Given the description of an element on the screen output the (x, y) to click on. 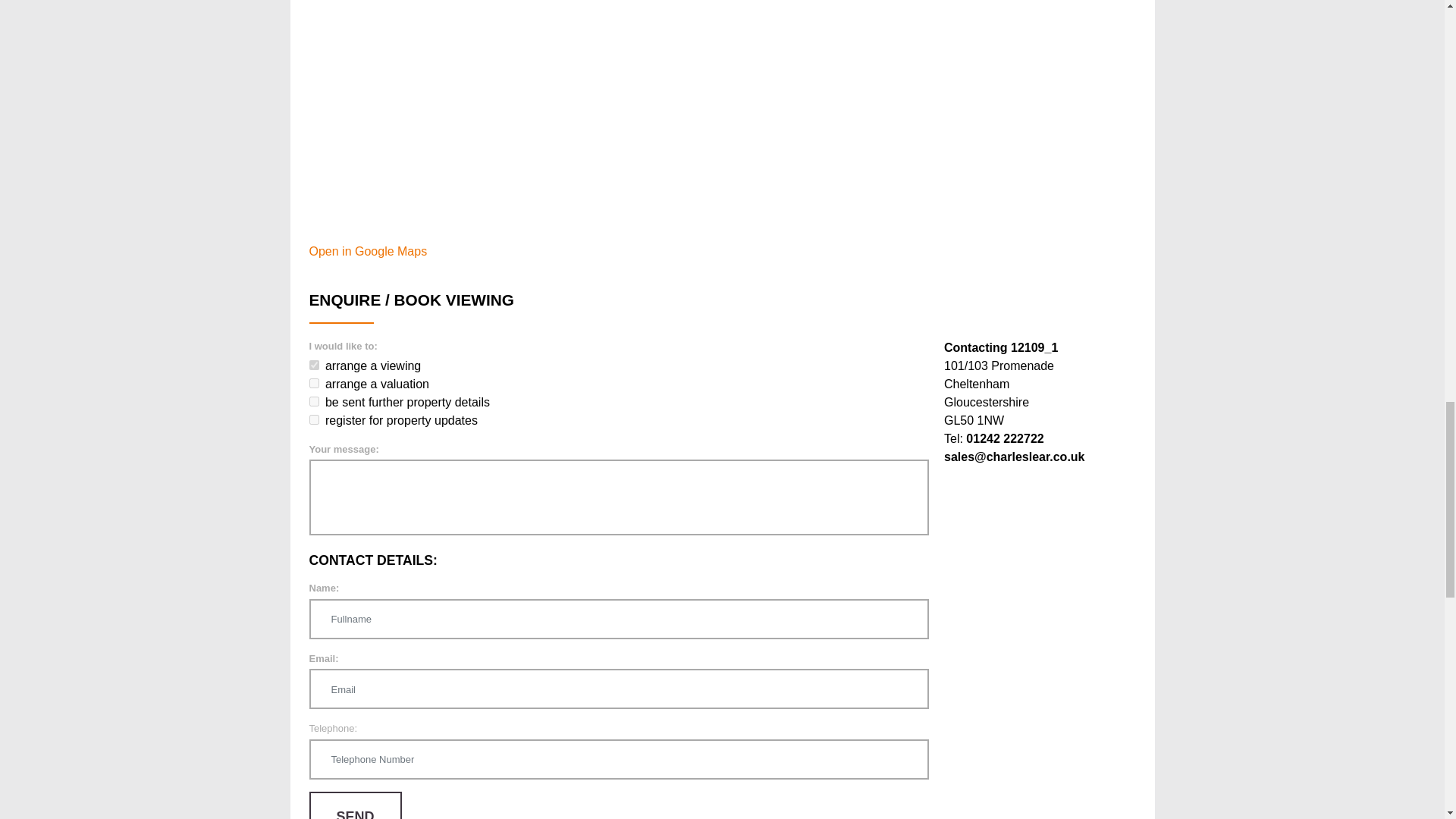
true (313, 419)
true (313, 401)
true (313, 383)
true (313, 365)
Send (354, 805)
